Given the description of an element on the screen output the (x, y) to click on. 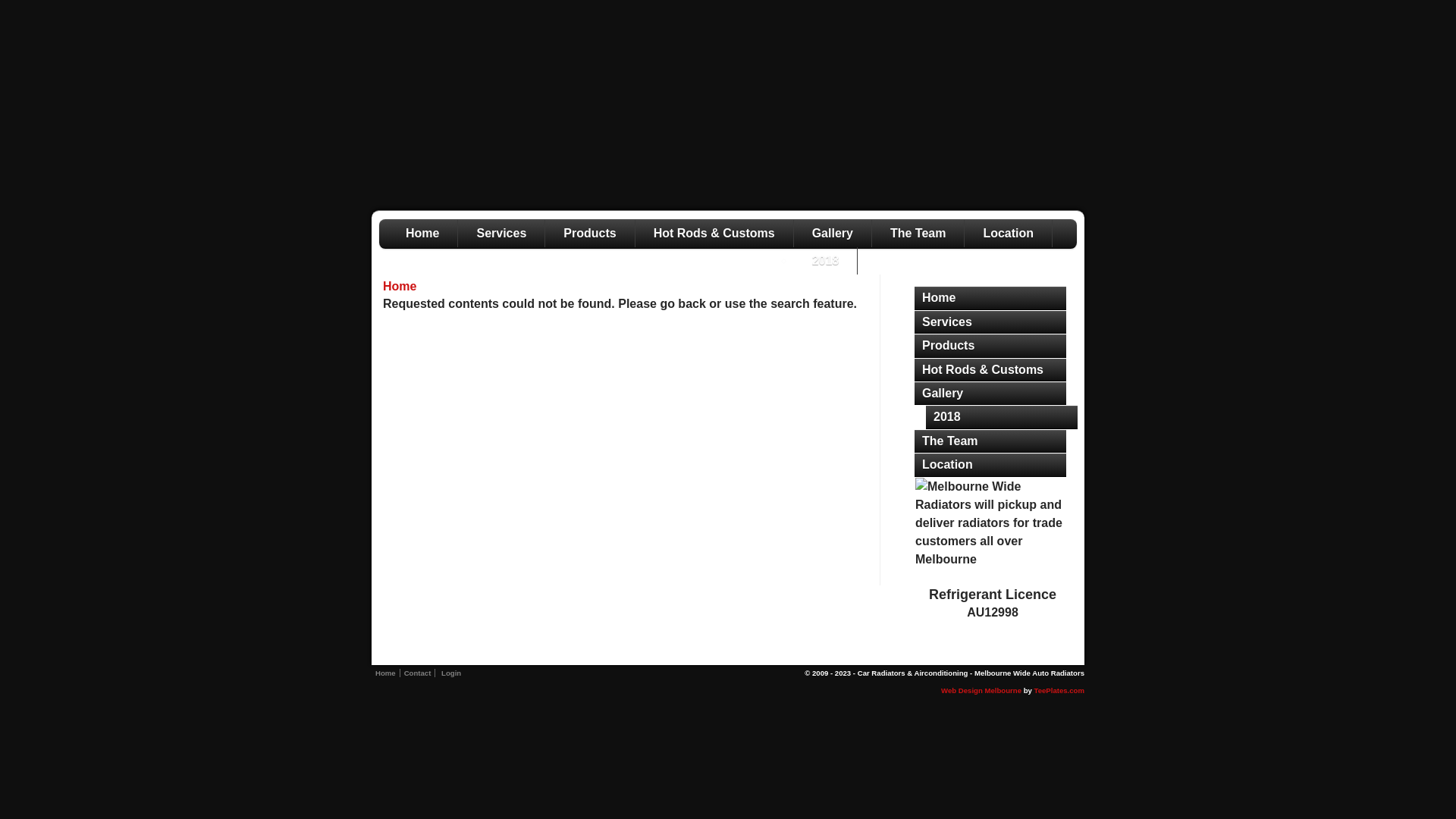
Contact Element type: text (418, 672)
The Team Element type: text (990, 440)
The Team Element type: text (918, 233)
Web Design Melbourne Element type: text (981, 690)
Gallery Element type: text (832, 233)
Products Element type: text (990, 345)
Gallery Element type: text (990, 393)
Location Element type: text (1008, 233)
Services Element type: text (990, 321)
Products Element type: text (589, 233)
Services Element type: text (501, 233)
Login Element type: text (450, 672)
Home Element type: text (399, 285)
2018 Element type: text (825, 260)
Hot Rods & Customs Element type: text (714, 233)
Home Element type: text (422, 233)
Hot Rods & Customs Element type: text (990, 369)
Location Element type: text (990, 464)
Home Element type: text (990, 297)
Home Element type: text (385, 672)
2018 Element type: text (1001, 416)
TeePlates.com Element type: text (1059, 690)
